Given the description of an element on the screen output the (x, y) to click on. 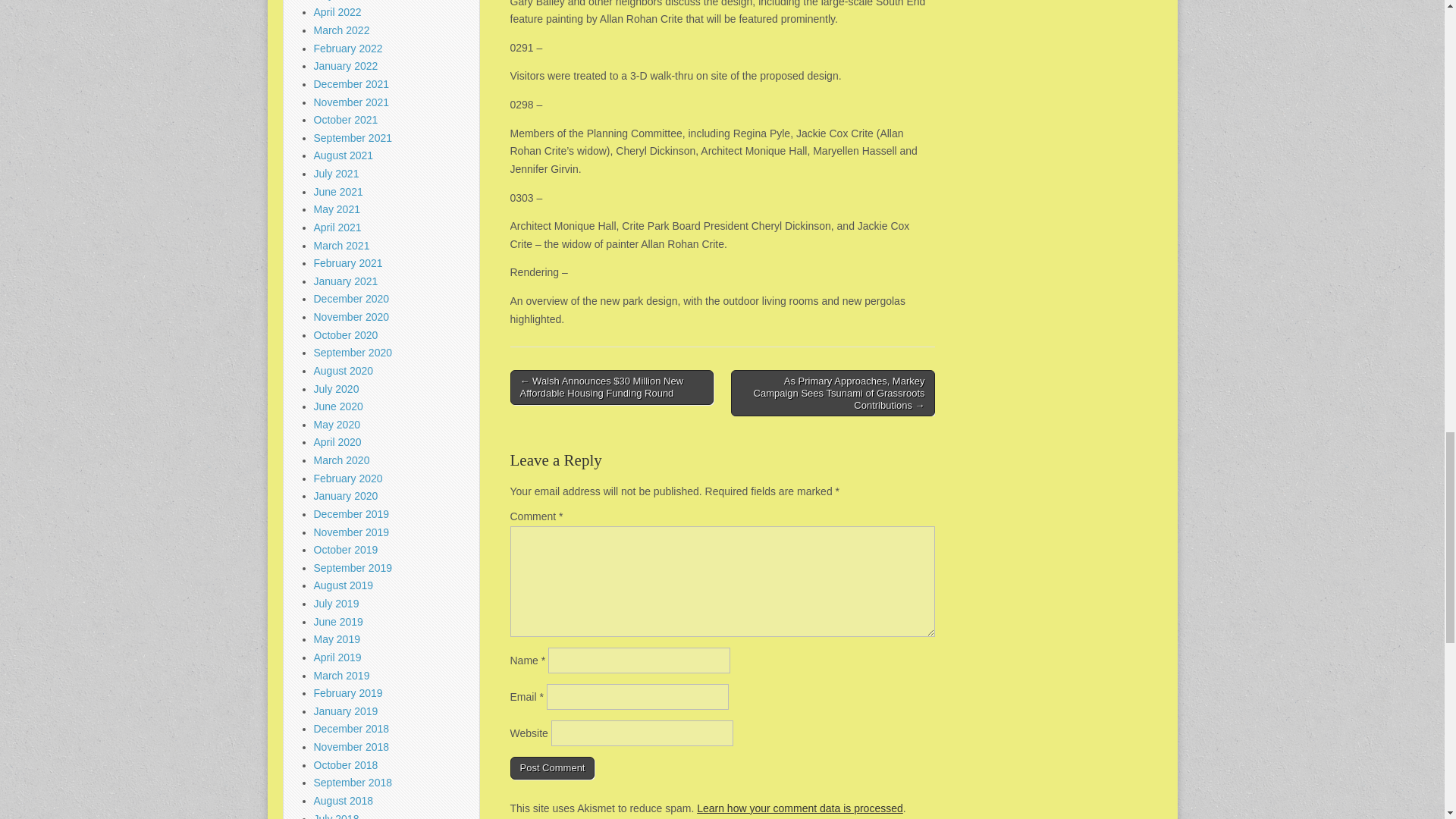
Post Comment (551, 767)
Post Comment (551, 767)
Learn how your comment data is processed (799, 808)
